Given the description of an element on the screen output the (x, y) to click on. 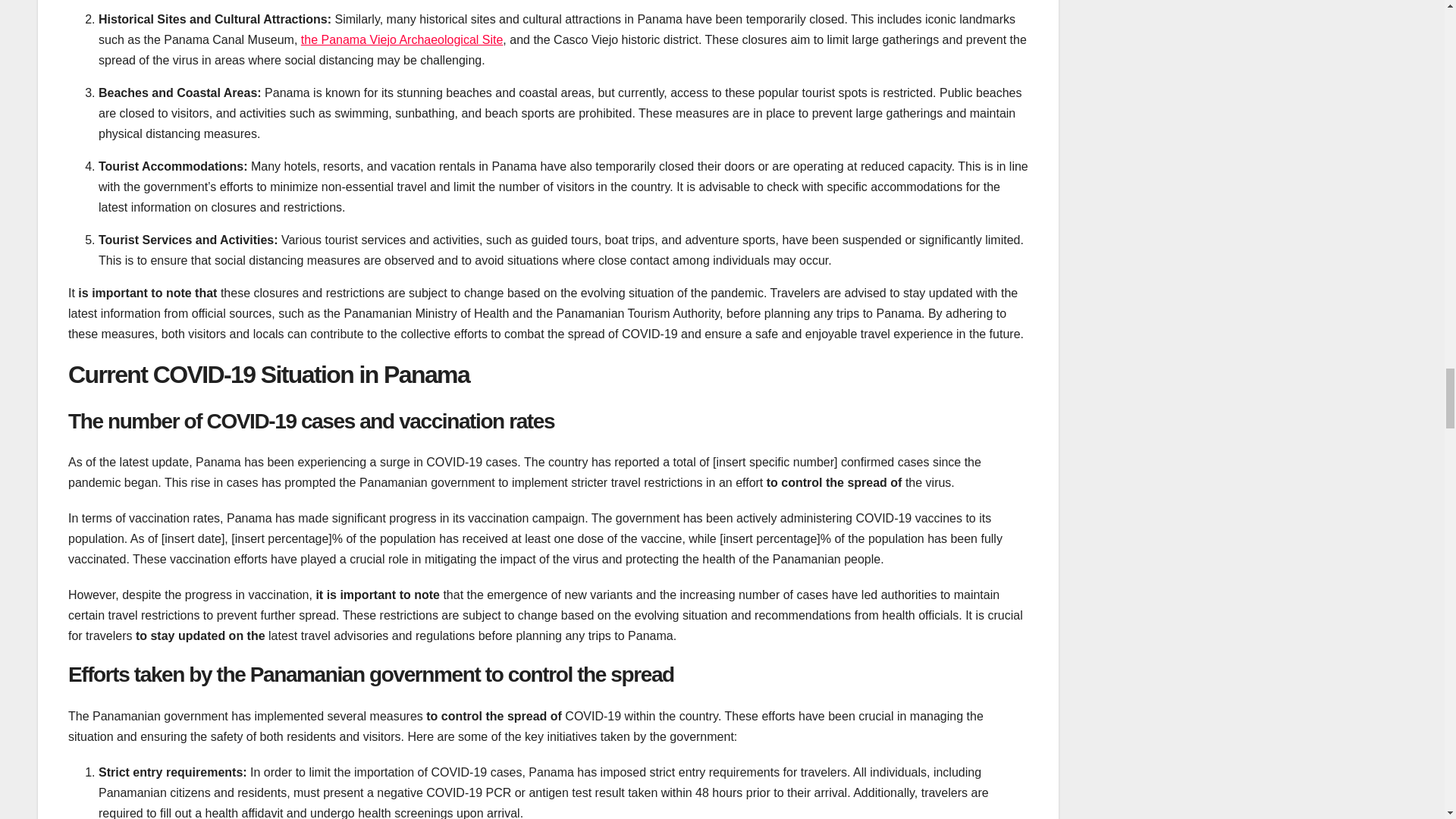
the Panama Viejo Archaeological Site (402, 39)
